Given the description of an element on the screen output the (x, y) to click on. 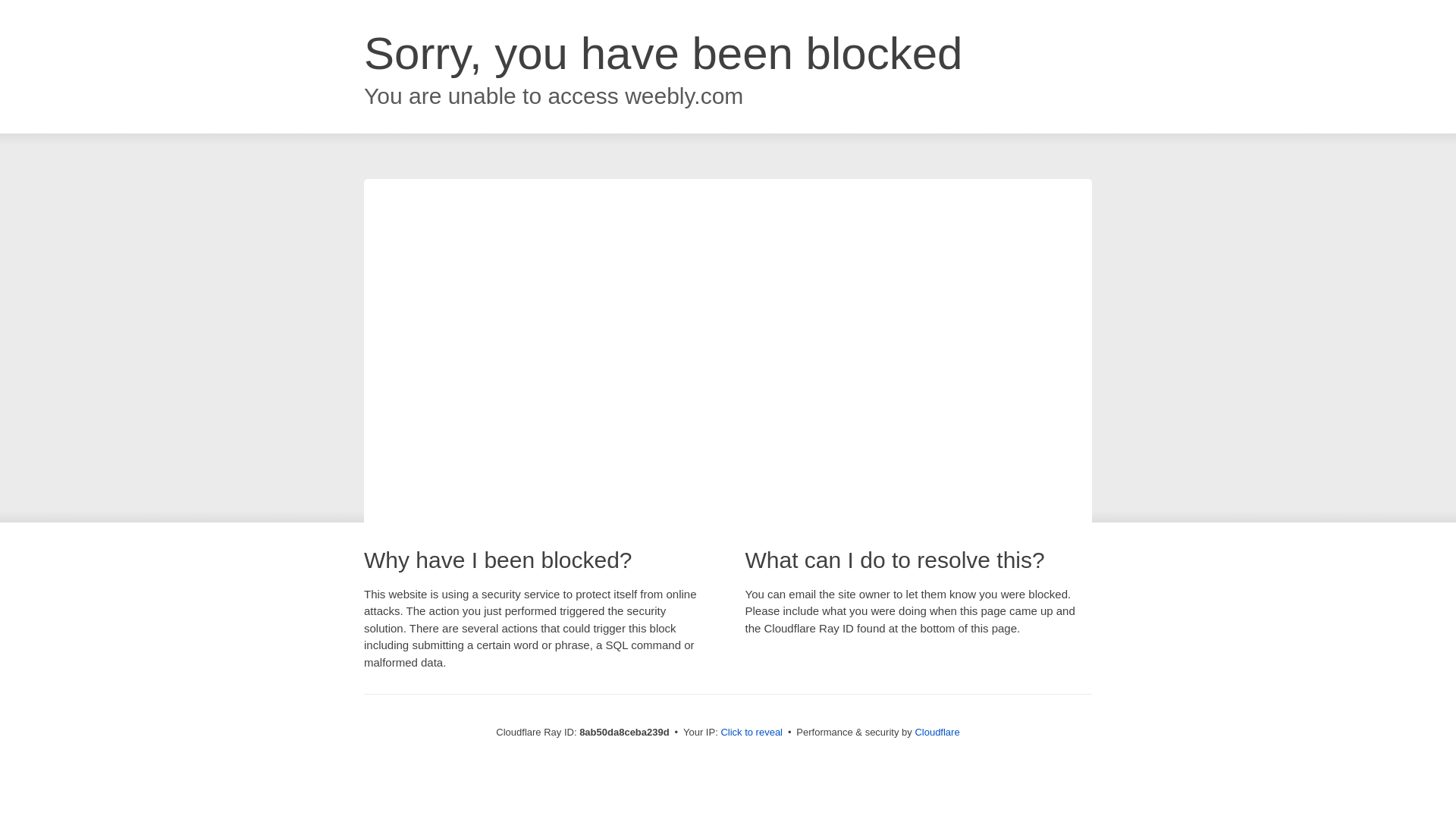
Cloudflare (936, 731)
Click to reveal (751, 732)
